Given the description of an element on the screen output the (x, y) to click on. 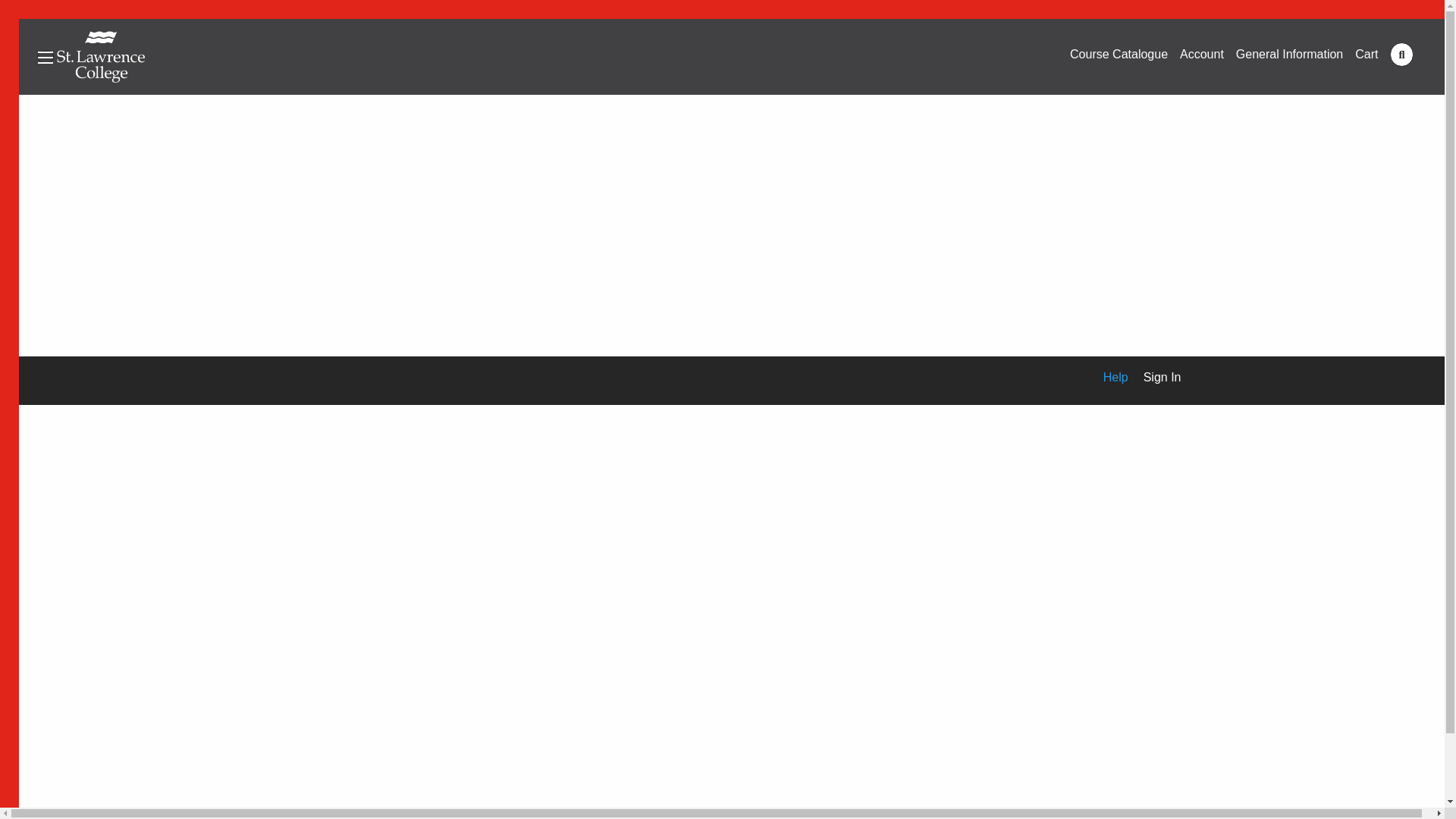
Help (1107, 377)
General Information (1289, 54)
Shopping Cart (1366, 54)
Account (1201, 54)
Sign In (1154, 377)
Course Catalogue (1118, 54)
Cart (1366, 54)
My Account (1201, 54)
General Information (1289, 54)
